Given the description of an element on the screen output the (x, y) to click on. 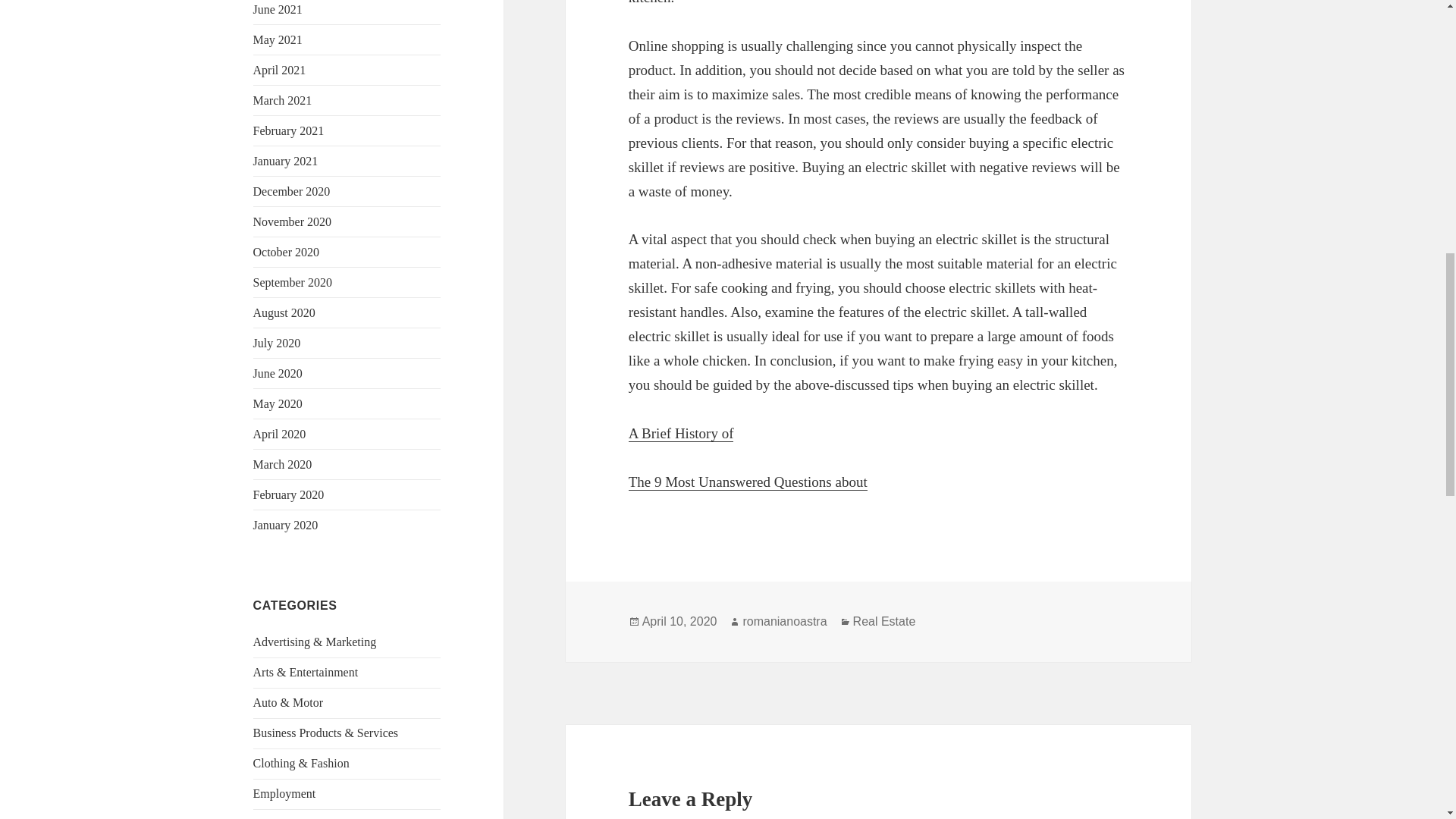
January 2020 (285, 524)
Employment (284, 793)
January 2021 (285, 160)
August 2020 (284, 312)
May 2021 (277, 39)
June 2021 (277, 9)
April 2021 (279, 69)
February 2020 (288, 494)
December 2020 (291, 191)
November 2020 (292, 221)
February 2021 (288, 130)
Financial (275, 818)
October 2020 (286, 251)
April 2020 (279, 433)
March 2021 (283, 100)
